Given the description of an element on the screen output the (x, y) to click on. 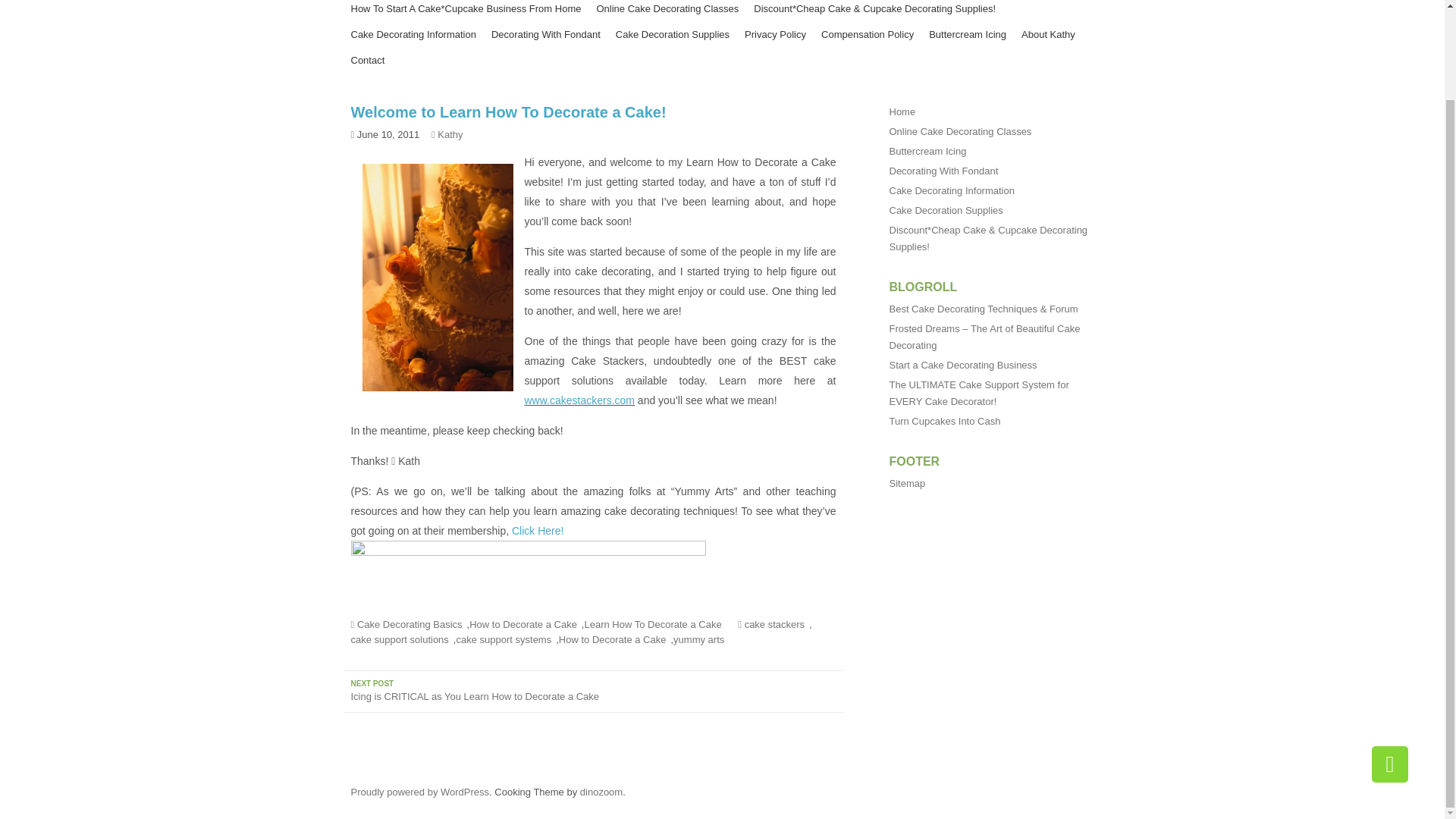
Cake Decoration Supplies (672, 34)
Cake Decorating Information (412, 34)
About Kathy (1048, 34)
Learn How To Decorate a Cake (654, 624)
Decorating With Fondant (545, 34)
Home (901, 111)
Buttercream Icing (927, 151)
How to Decorate a Cake (615, 639)
Decorating With Fondant (942, 170)
yummy arts (700, 639)
